Given the description of an element on the screen output the (x, y) to click on. 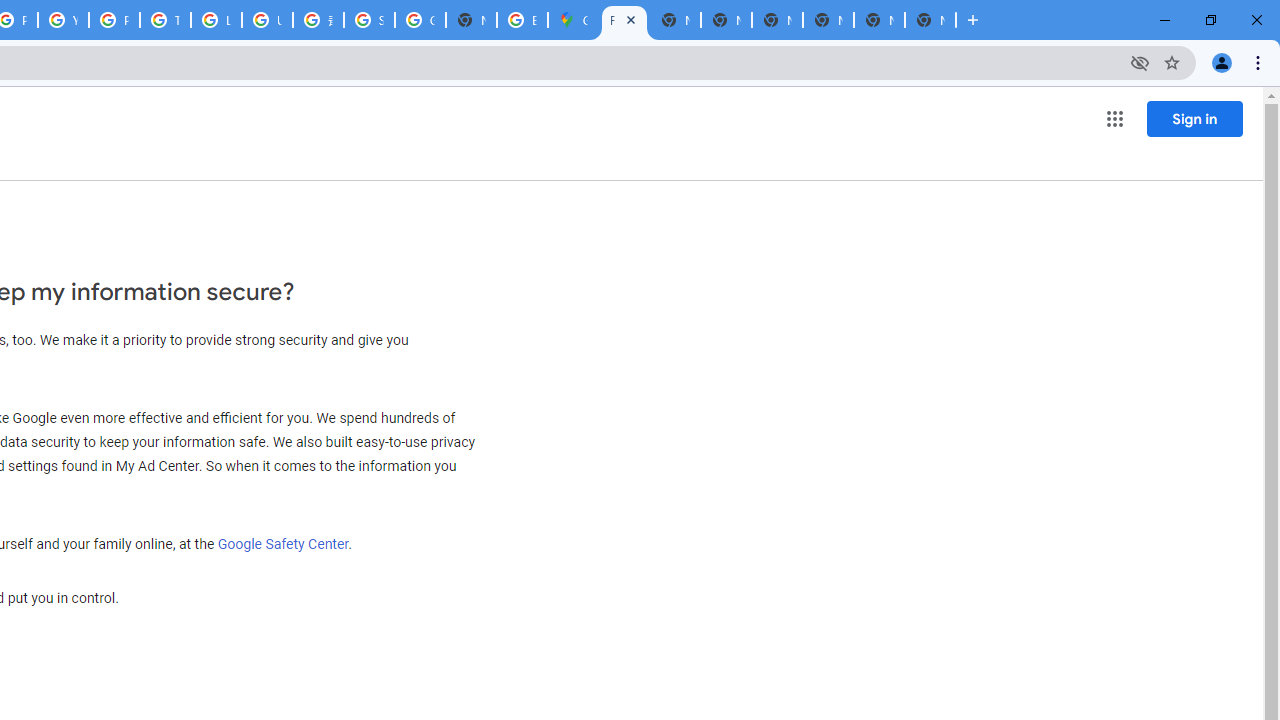
New Tab (930, 20)
YouTube (63, 20)
Google Maps (573, 20)
Sign in - Google Accounts (369, 20)
